Given the description of an element on the screen output the (x, y) to click on. 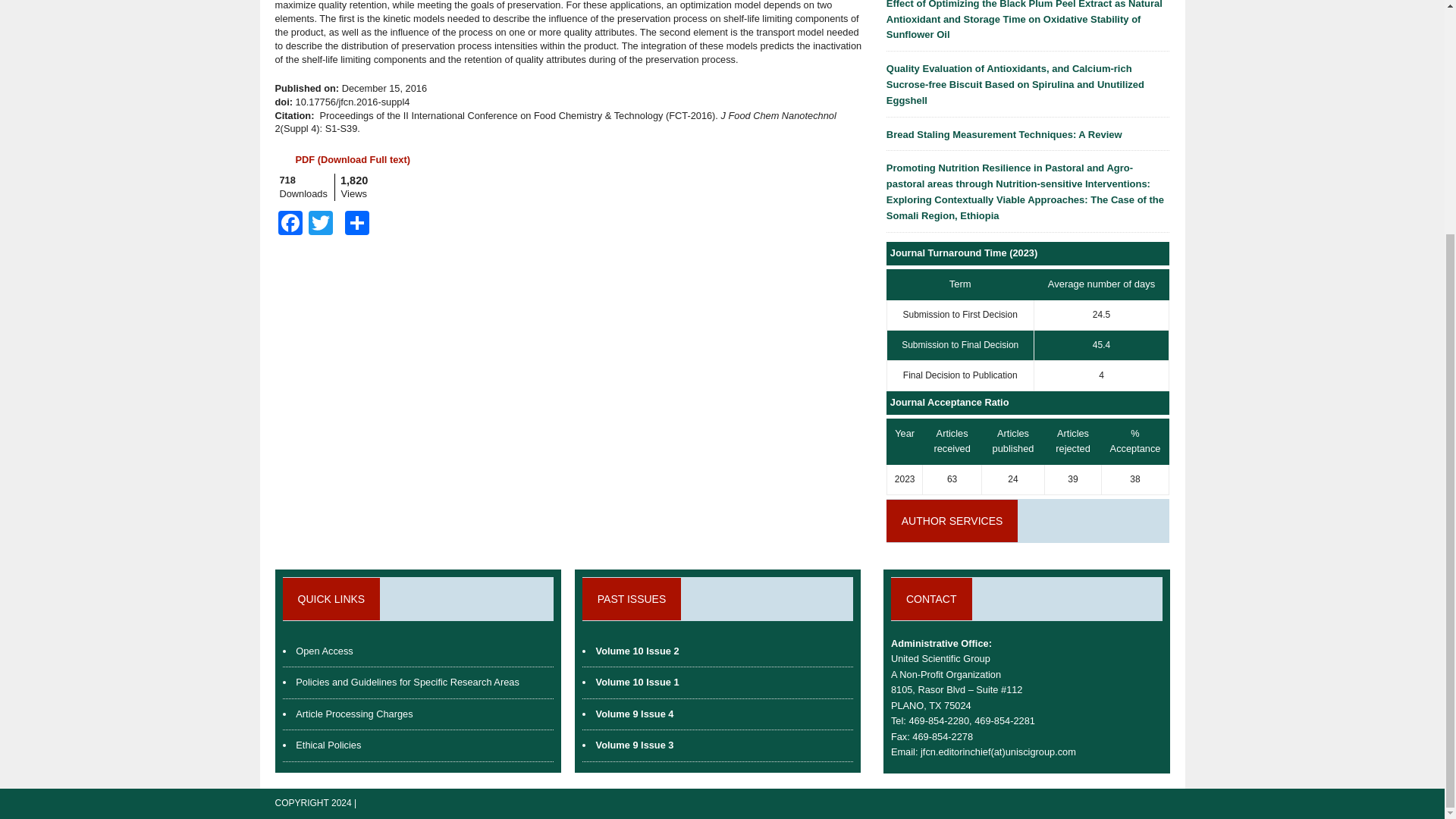
Facebook (289, 224)
Facebook (289, 224)
Ethical Policies (328, 745)
Open Access (323, 650)
Volume 10 Issue 1 (637, 681)
Policies and Guidelines for Specific Research Areas (406, 681)
jfcn-s4-fct (351, 159)
Share (355, 224)
Volume 9 Issue 4 (634, 713)
Twitter (319, 224)
Volume 9 Issue 3 (634, 745)
Twitter (319, 224)
